Given the description of an element on the screen output the (x, y) to click on. 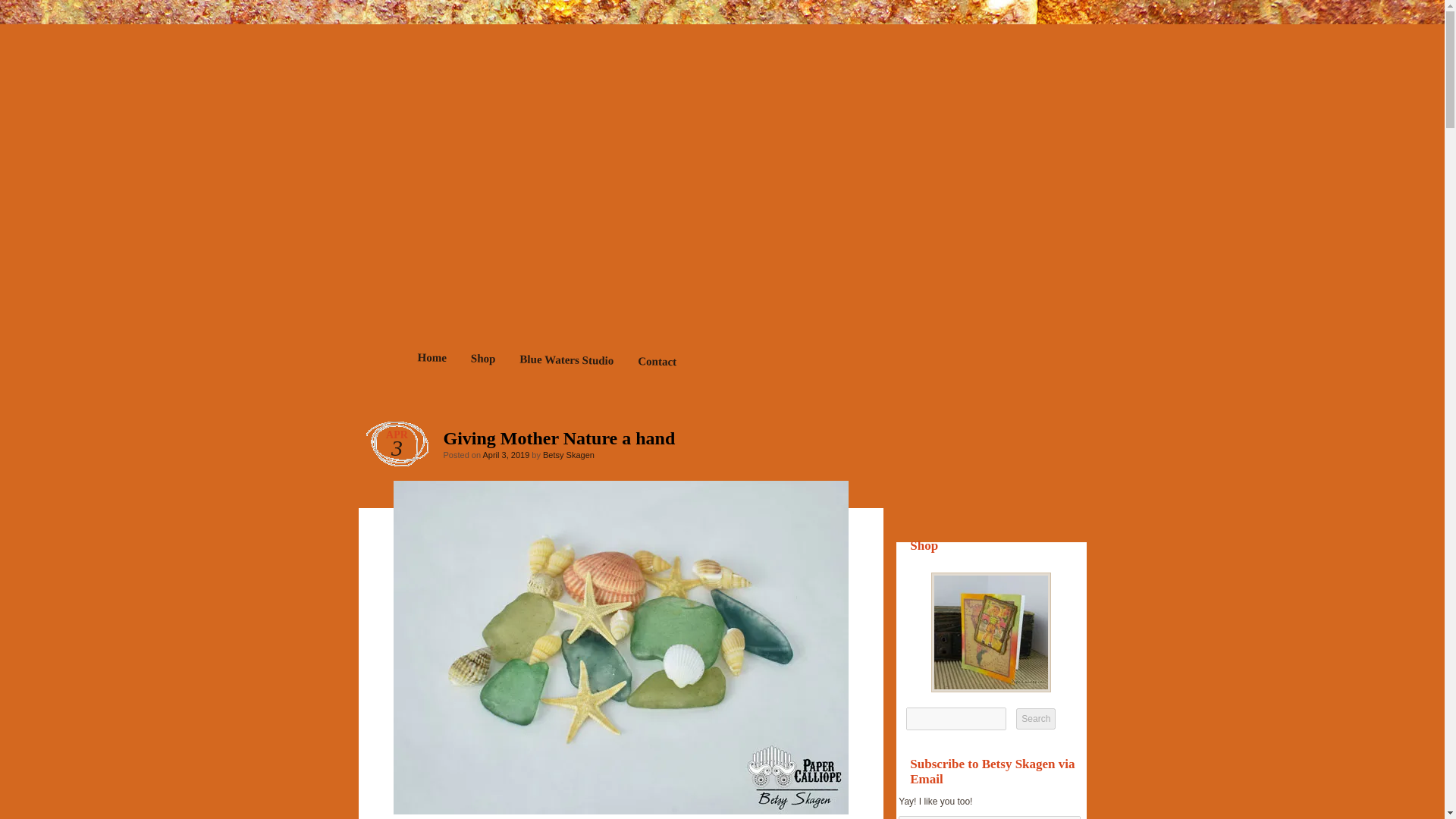
Contact (656, 362)
Permalink to Giving Mother Nature a hand (843, 441)
Giving Mother Nature a hand (843, 441)
Shop (482, 360)
Search (1035, 718)
April 3, 2019 (505, 454)
Search (1035, 718)
Blue Waters Studio (566, 361)
12:12 pm (505, 454)
Betsy Skagen (568, 454)
Home (431, 359)
View all posts by Betsy Skagen (568, 454)
